Given the description of an element on the screen output the (x, y) to click on. 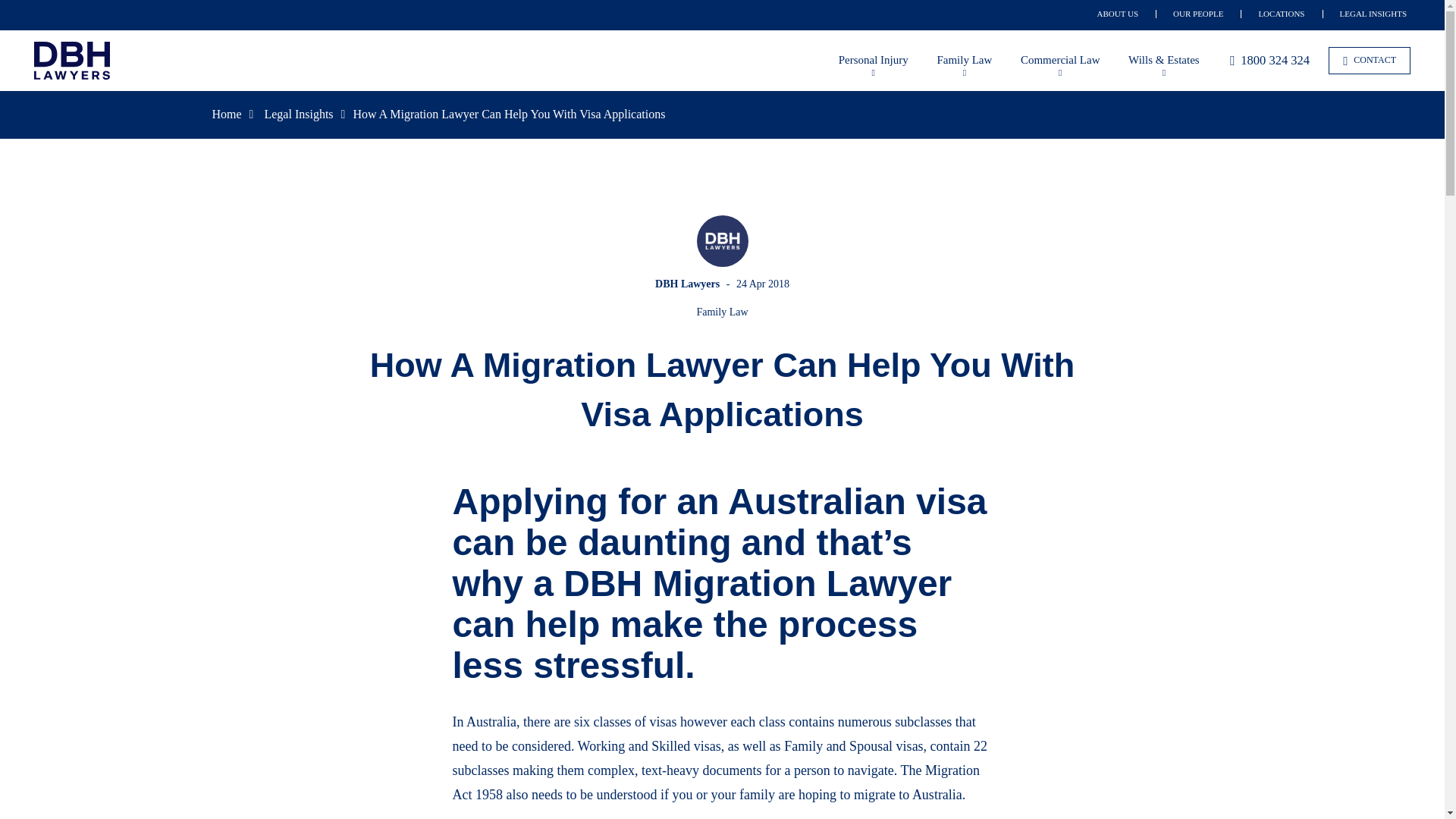
Commercial Law (1060, 60)
LOCATIONS (1280, 13)
ABOUT US (1118, 13)
Personal Injury (873, 60)
Family Law (963, 60)
LEGAL INSIGHTS (1372, 13)
OUR PEOPLE (1198, 13)
